Given the description of an element on the screen output the (x, y) to click on. 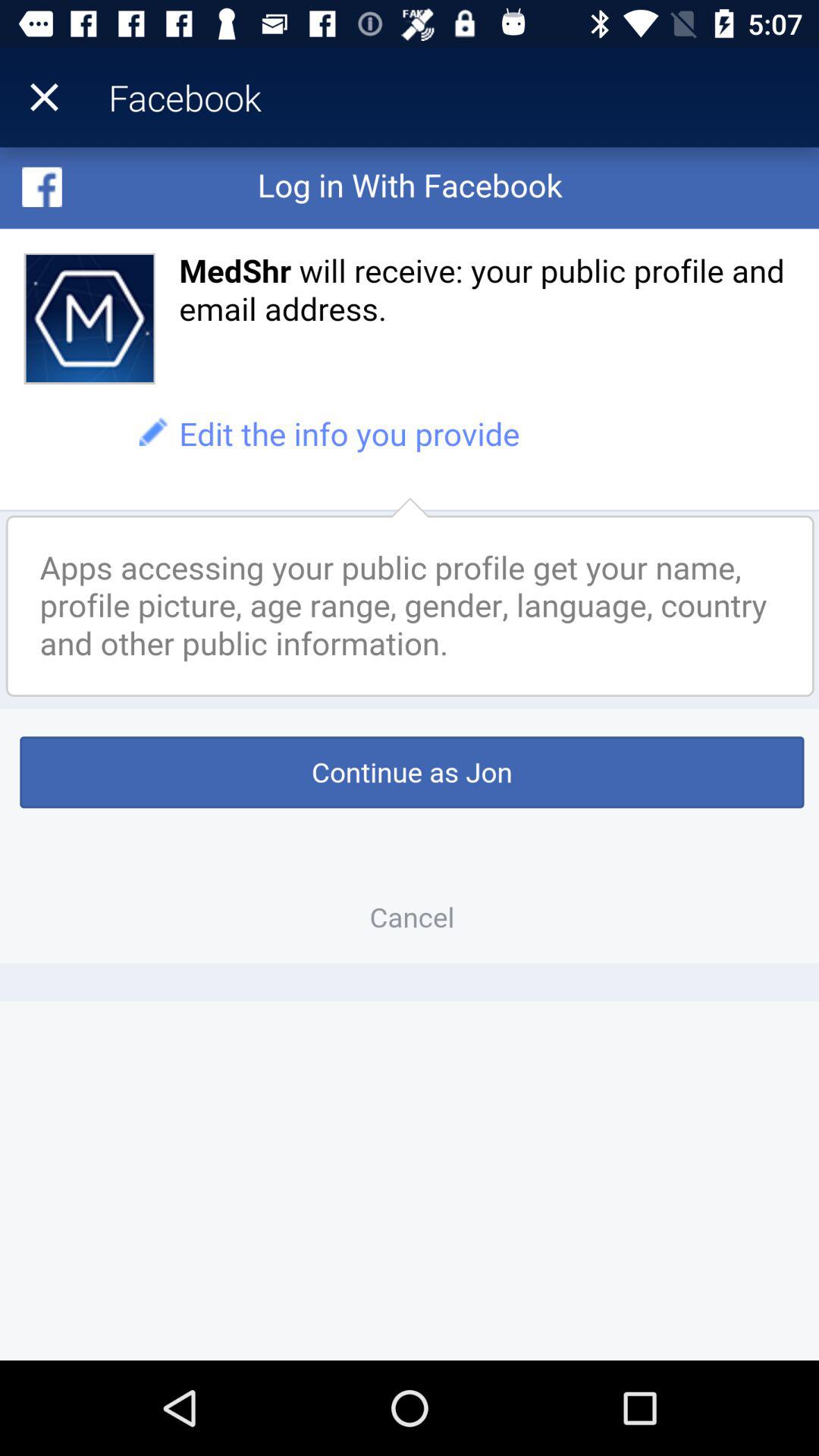
login in to facebook page (409, 753)
